Given the description of an element on the screen output the (x, y) to click on. 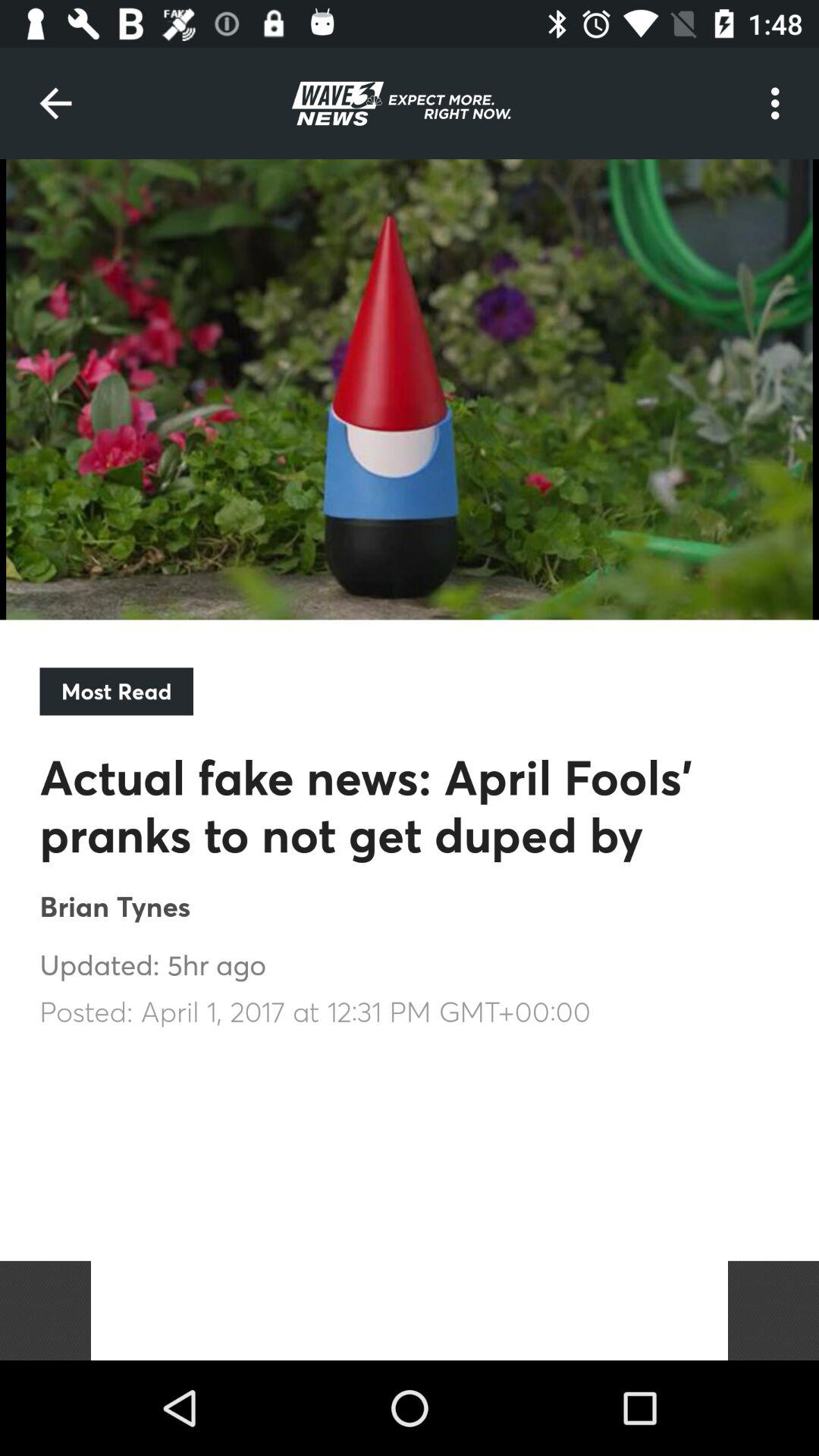
launch the item below posted april 1 item (409, 1310)
